Given the description of an element on the screen output the (x, y) to click on. 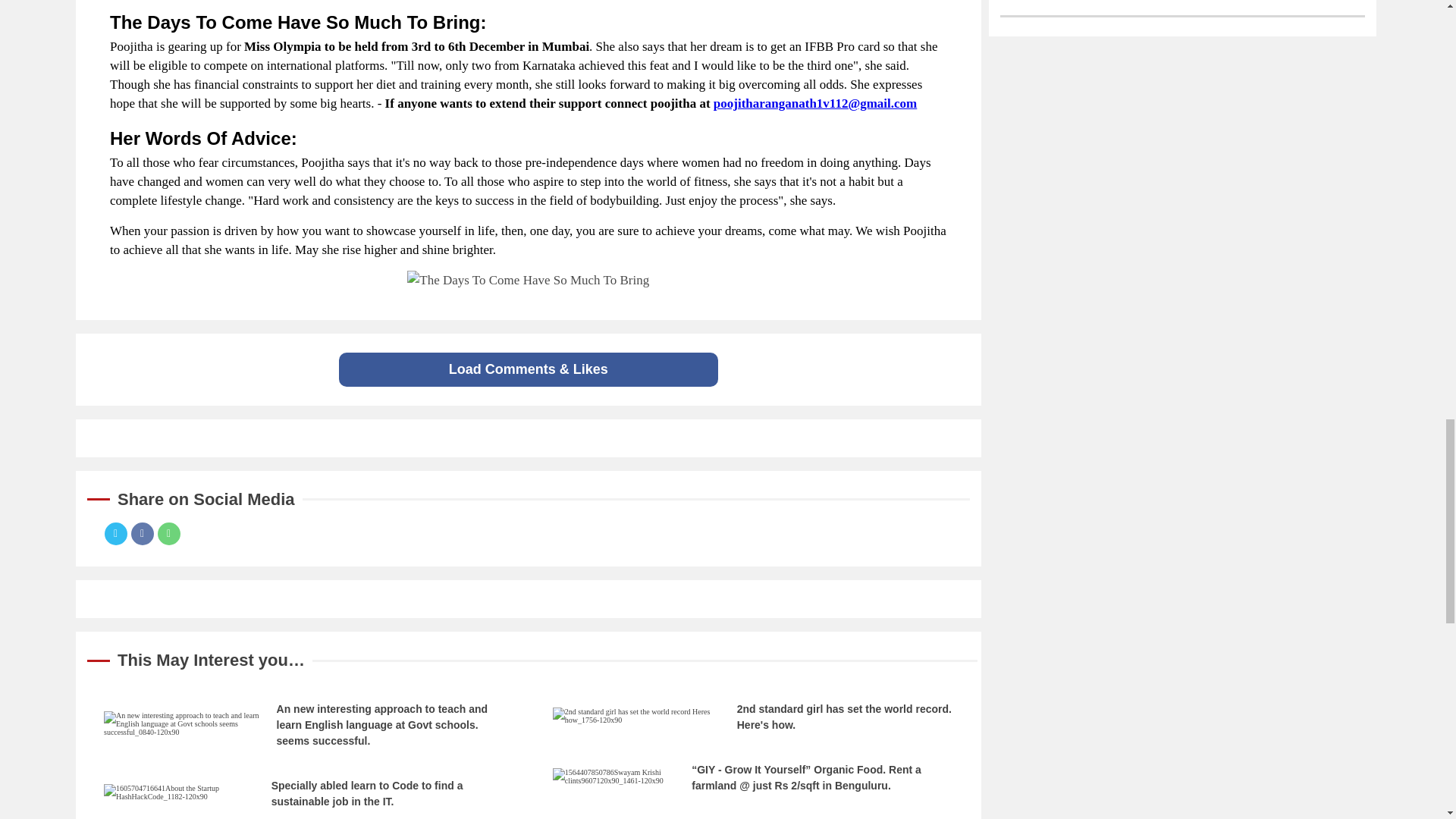
Share on Whatsapp (168, 533)
Share on Facebook (141, 533)
Share on Twitter (116, 533)
